Given the description of an element on the screen output the (x, y) to click on. 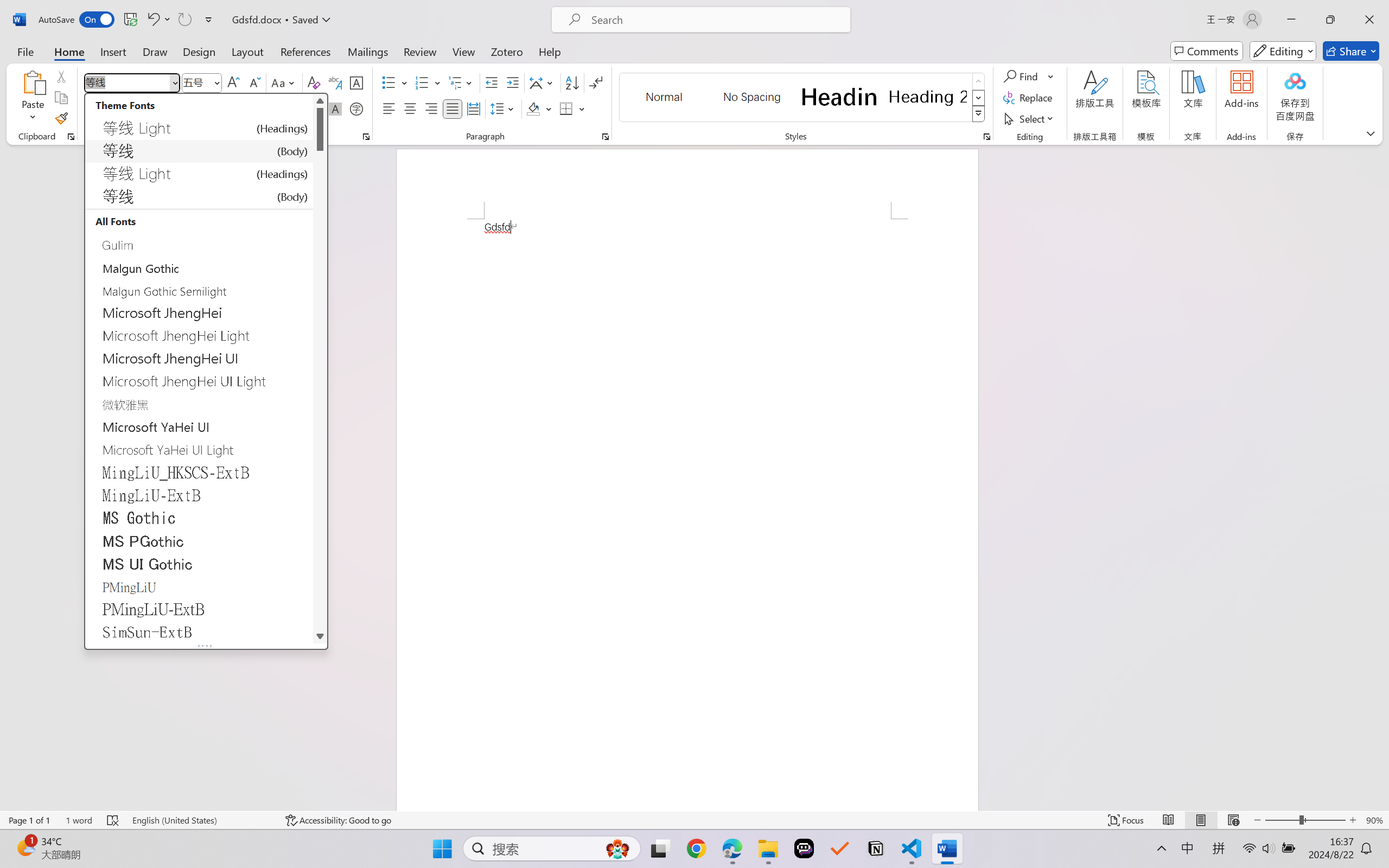
PMingLiU-ExtB (198, 609)
Align Left (388, 108)
Text Highlight Color Yellow (269, 108)
Microsoft JhengHei UI Light (198, 380)
Align Right (431, 108)
